Given the description of an element on the screen output the (x, y) to click on. 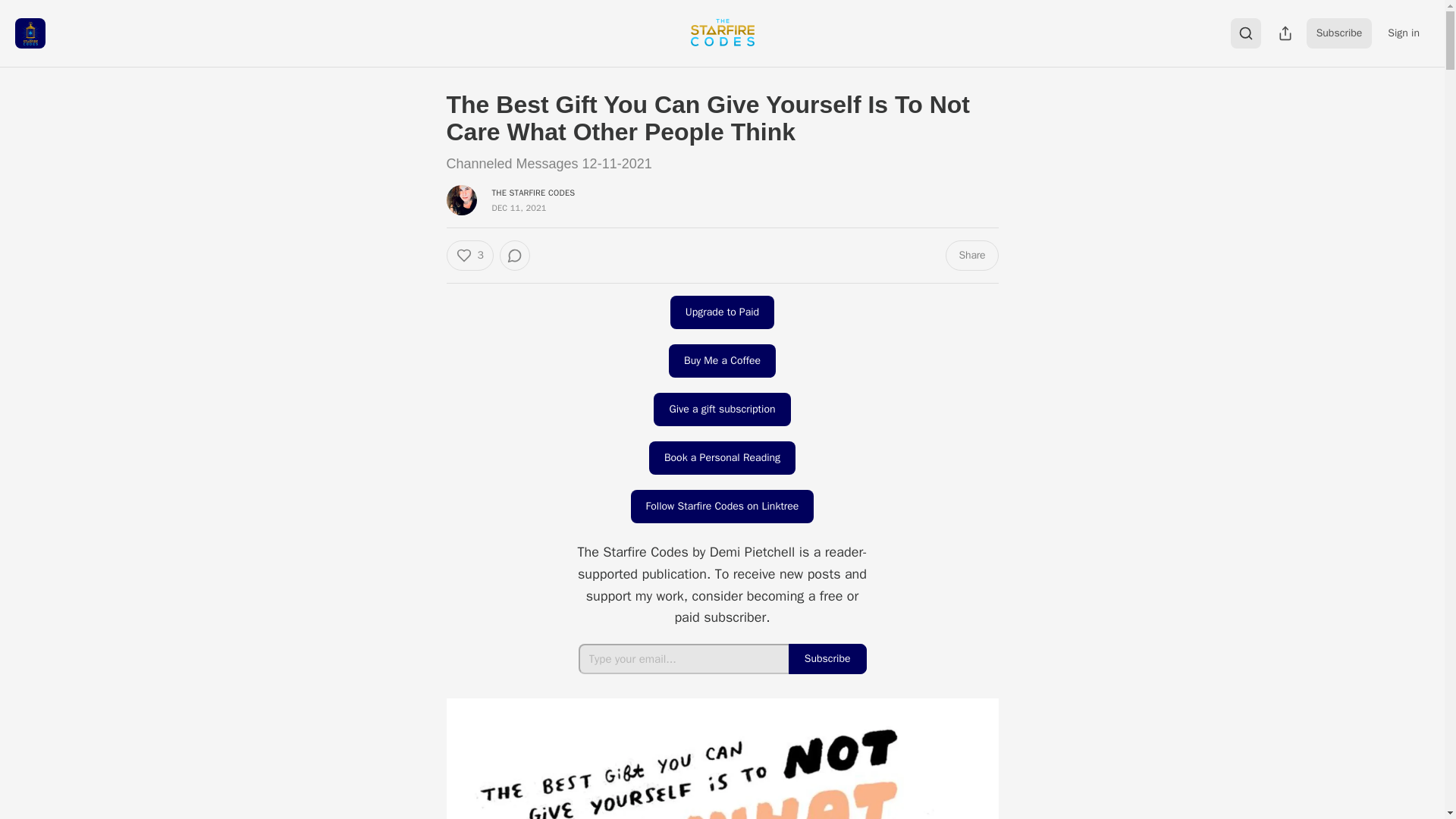
Subscribe (1339, 33)
Follow Starfire Codes on Linktree (721, 506)
Subscribe (827, 658)
3 (469, 255)
Share (970, 255)
Buy Me a Coffee (722, 360)
Sign in (1403, 33)
Give a gift subscription (721, 409)
Book a Personal Reading (721, 458)
THE STARFIRE CODES (533, 192)
Upgrade to Paid (721, 312)
